Given the description of an element on the screen output the (x, y) to click on. 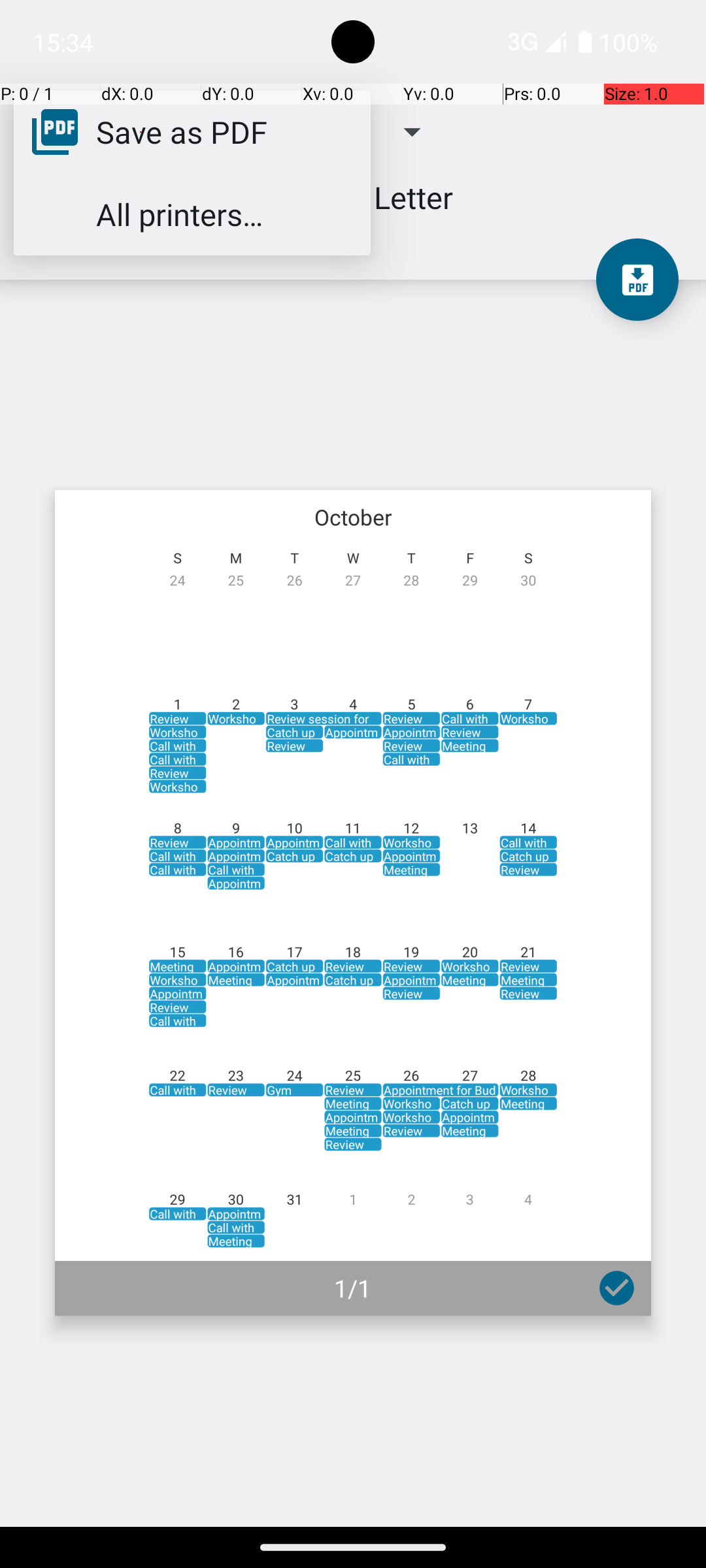
Save as PDF Element type: android.widget.TextView (182, 131)
All printers… Element type: android.widget.TextView (179, 213)
